Given the description of an element on the screen output the (x, y) to click on. 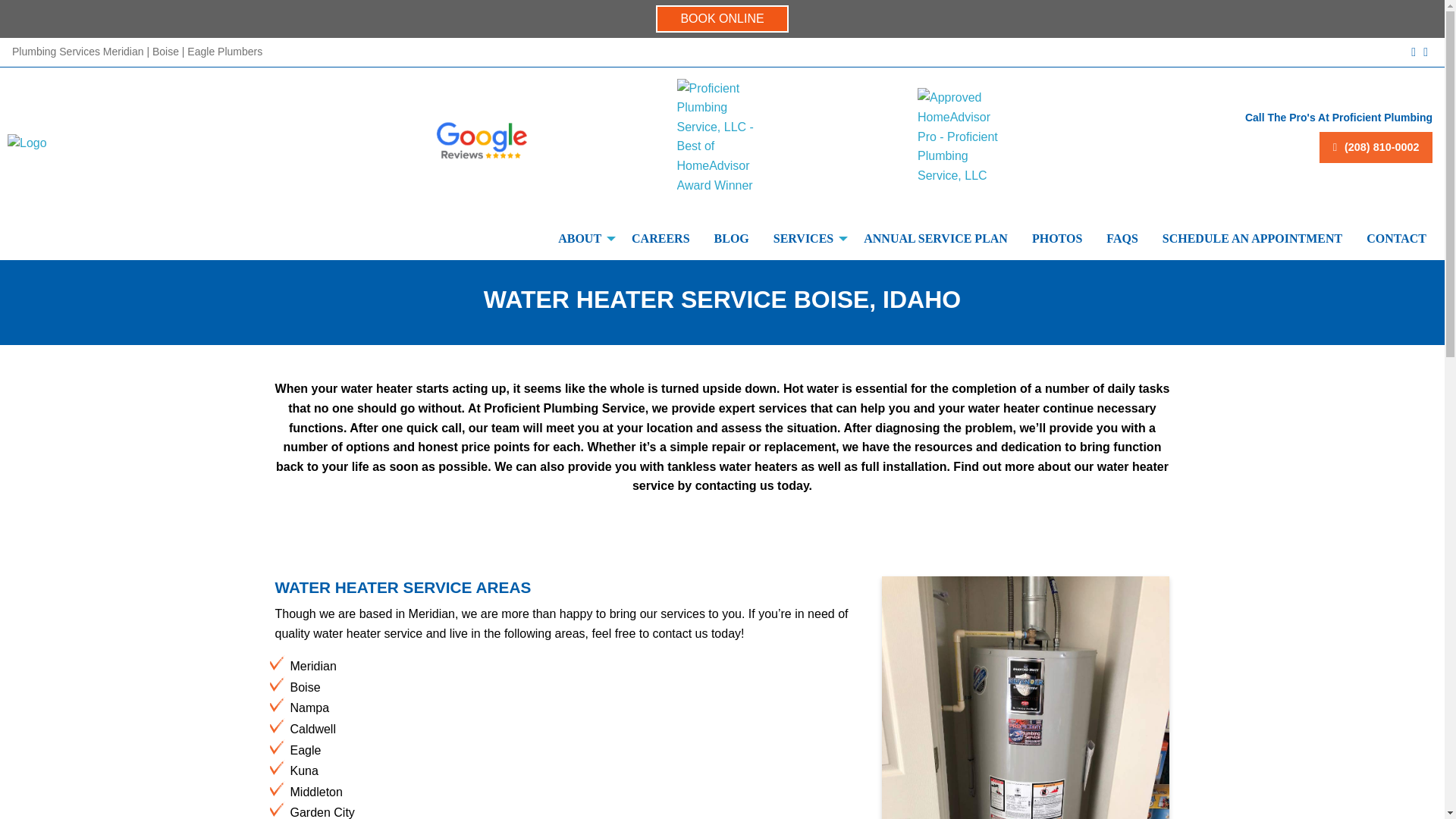
CAREERS (660, 238)
ABOUT (583, 238)
BLOG (731, 238)
SERVICES (806, 238)
BOOK ONLINE (721, 18)
